Given the description of an element on the screen output the (x, y) to click on. 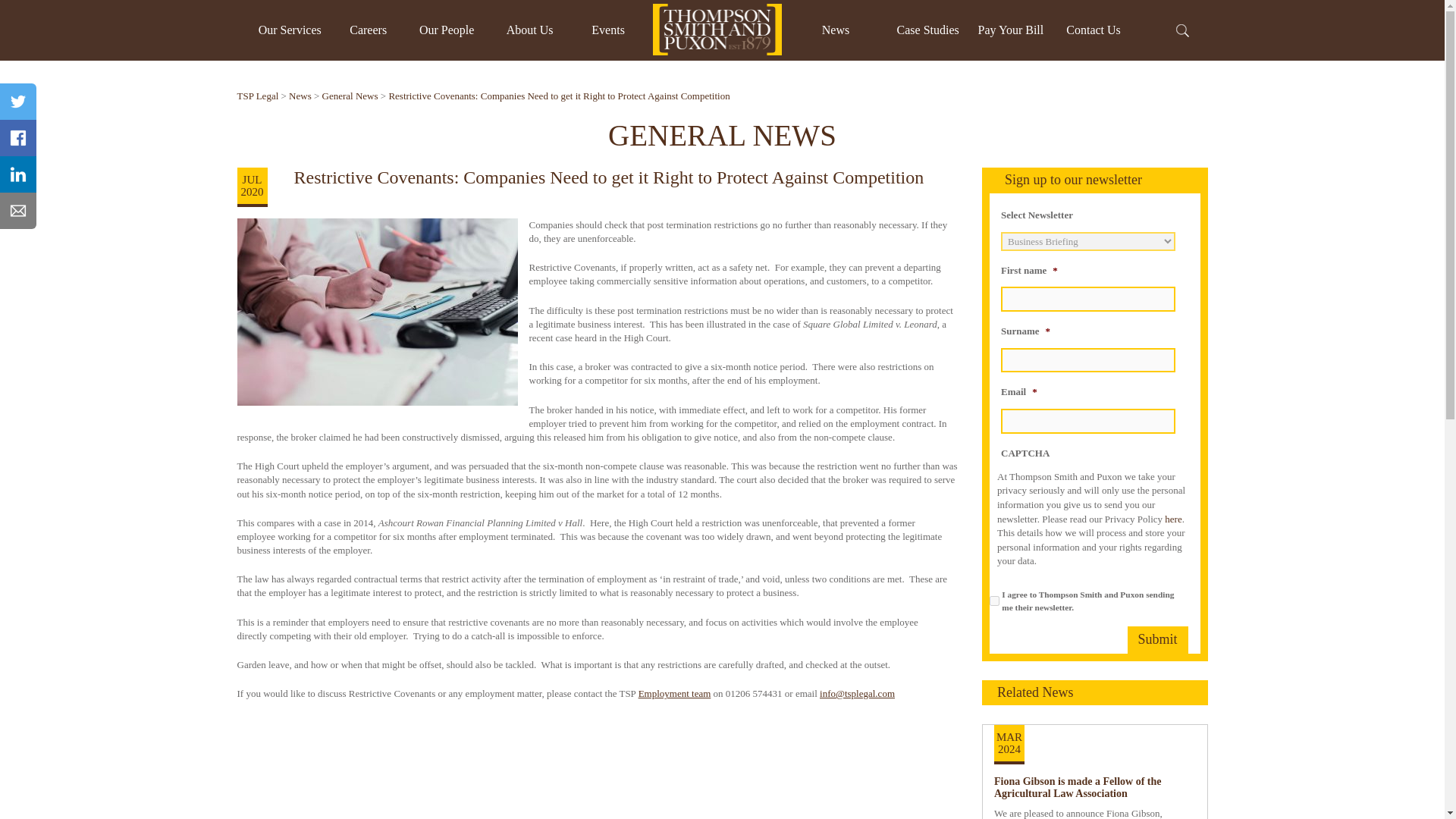
Contact Us (1093, 30)
Our People (445, 30)
Careers (367, 30)
Our Services (289, 30)
Home Page (716, 30)
Pay Your Bill (1011, 30)
Events (607, 30)
News (835, 30)
Case Studies (928, 30)
Our Services (289, 30)
About Us (529, 30)
Submit (1157, 639)
